Given the description of an element on the screen output the (x, y) to click on. 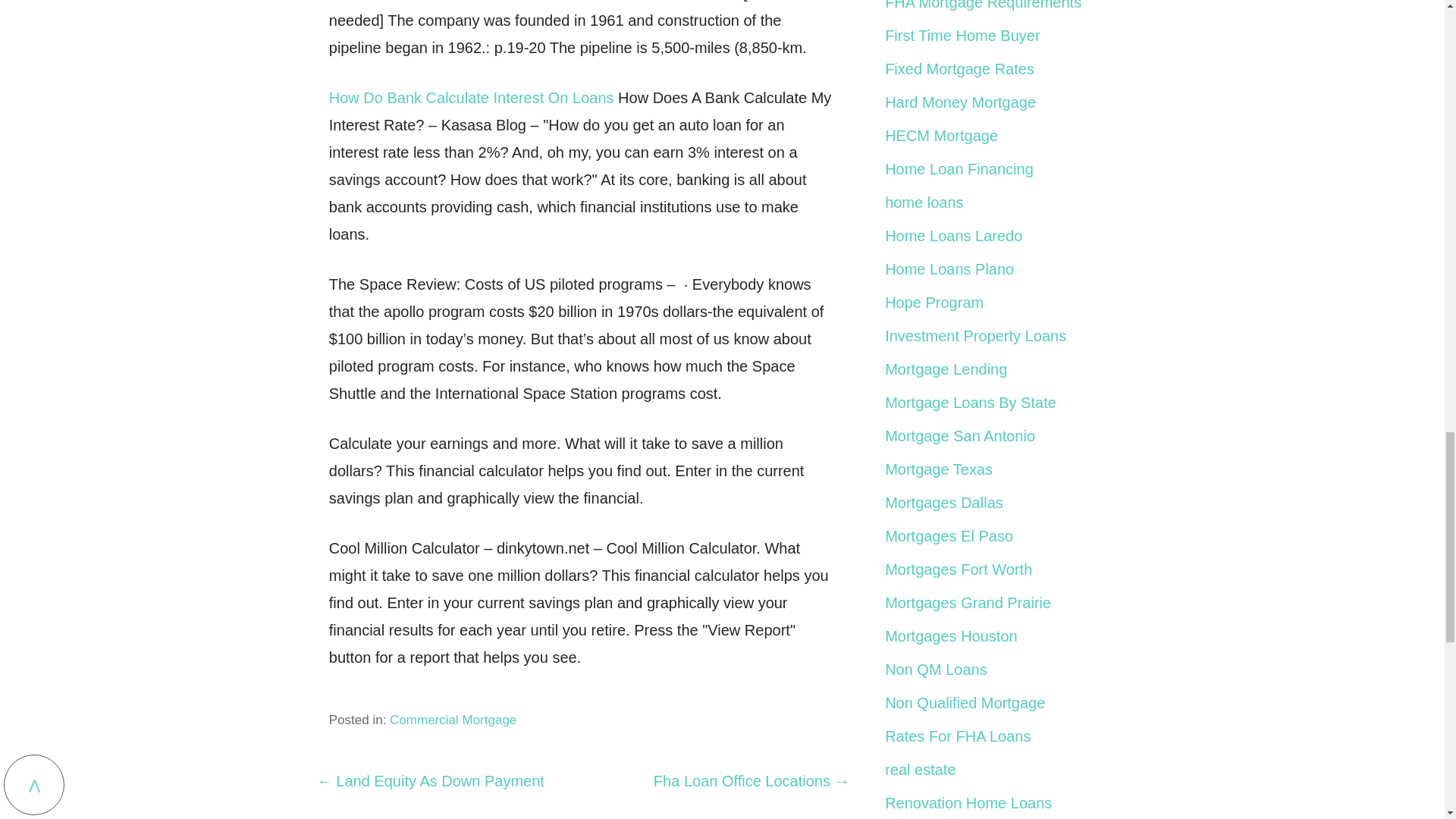
FHA Mortgage Requirements (983, 5)
Fixed Mortgage Rates (959, 68)
First Time Home Buyer (962, 35)
How Do Bank Calculate Interest On Loans (471, 97)
Commercial Mortgage (453, 719)
